Given the description of an element on the screen output the (x, y) to click on. 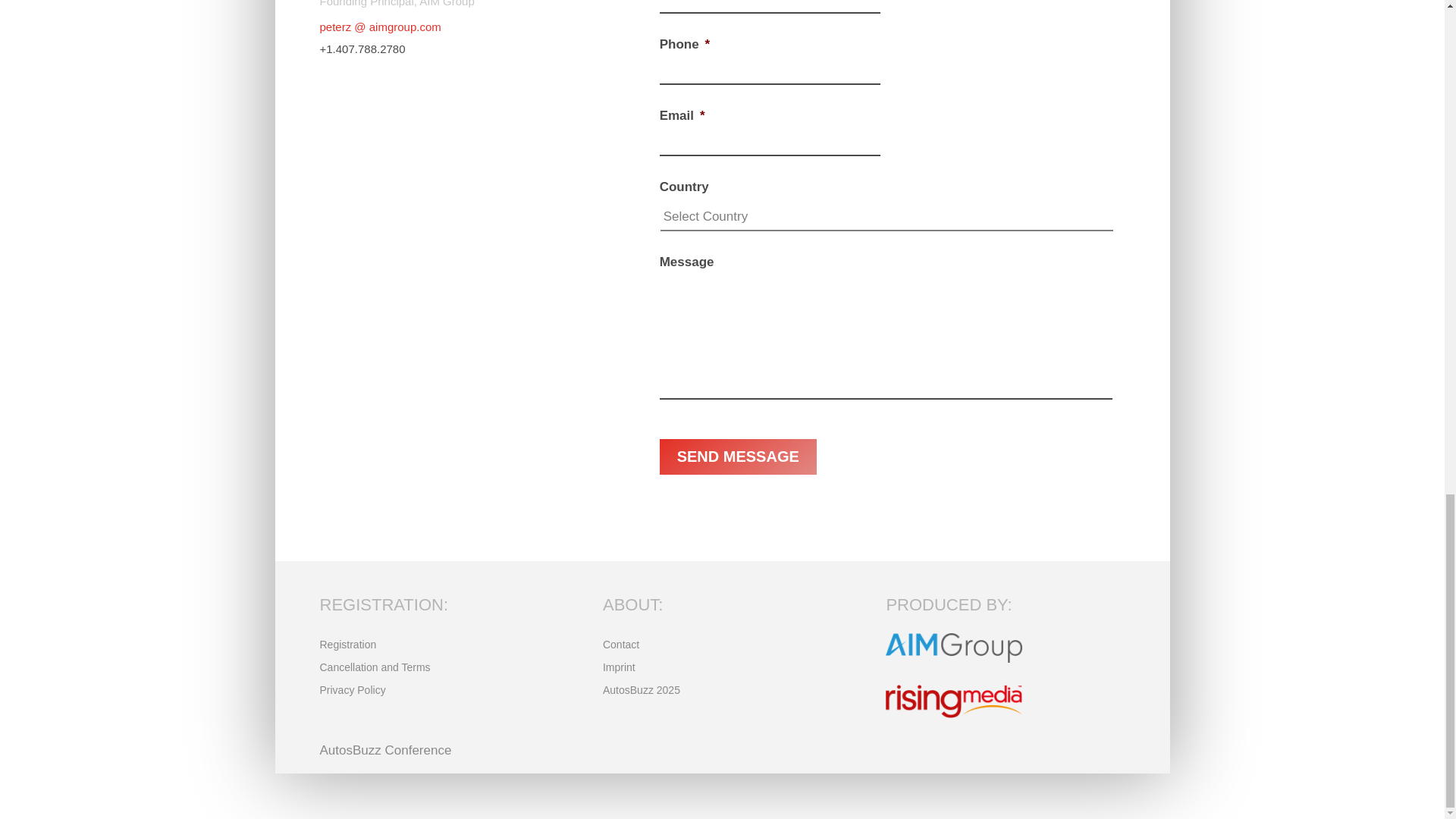
rmlogo (953, 701)
Registration (348, 647)
Cancellation and Terms (375, 669)
Contact (620, 647)
Send Message (737, 456)
Send Message (737, 456)
Privacy Policy (352, 692)
